Given the description of an element on the screen output the (x, y) to click on. 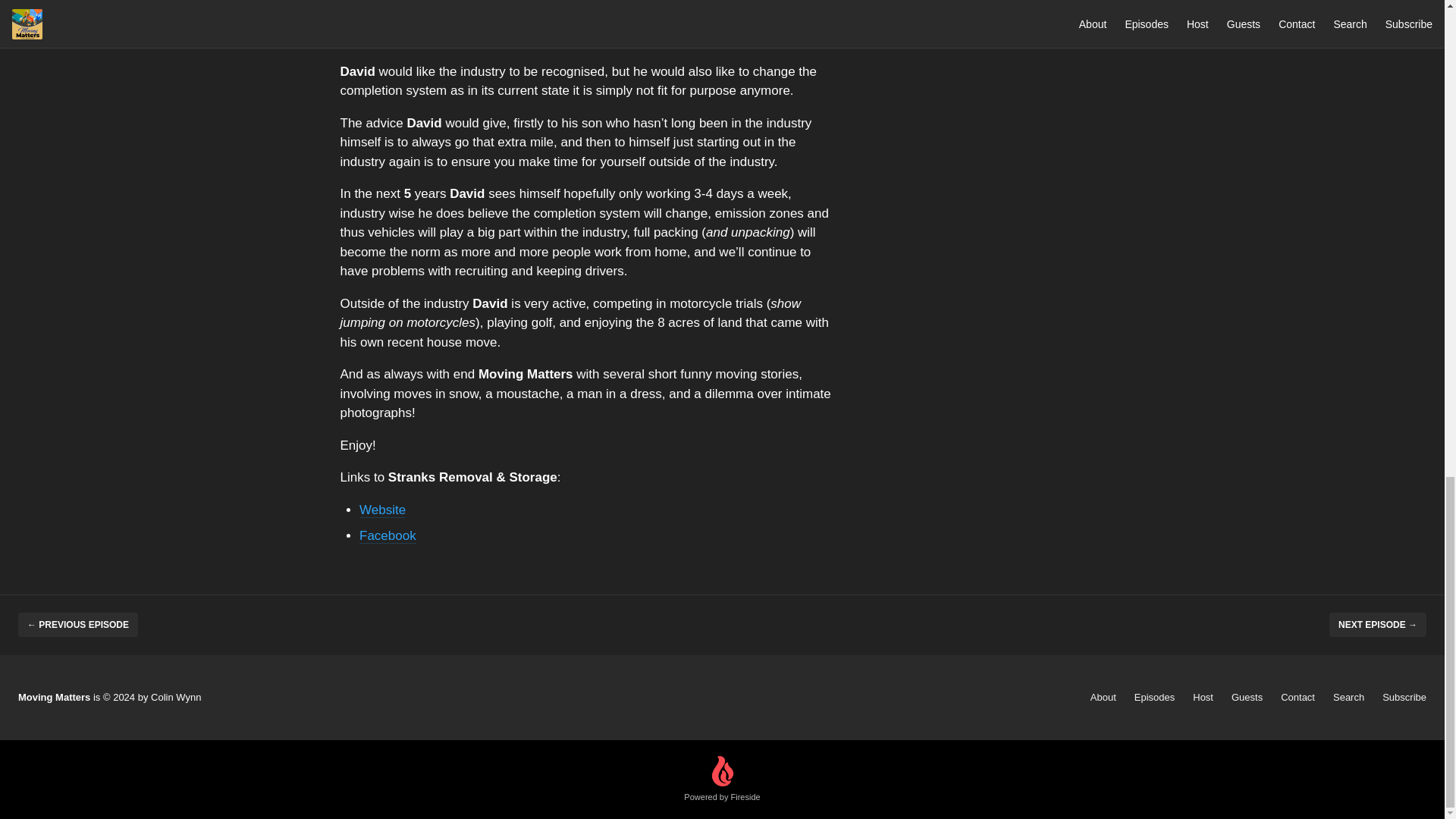
Powered by Fireside (722, 779)
